Given the description of an element on the screen output the (x, y) to click on. 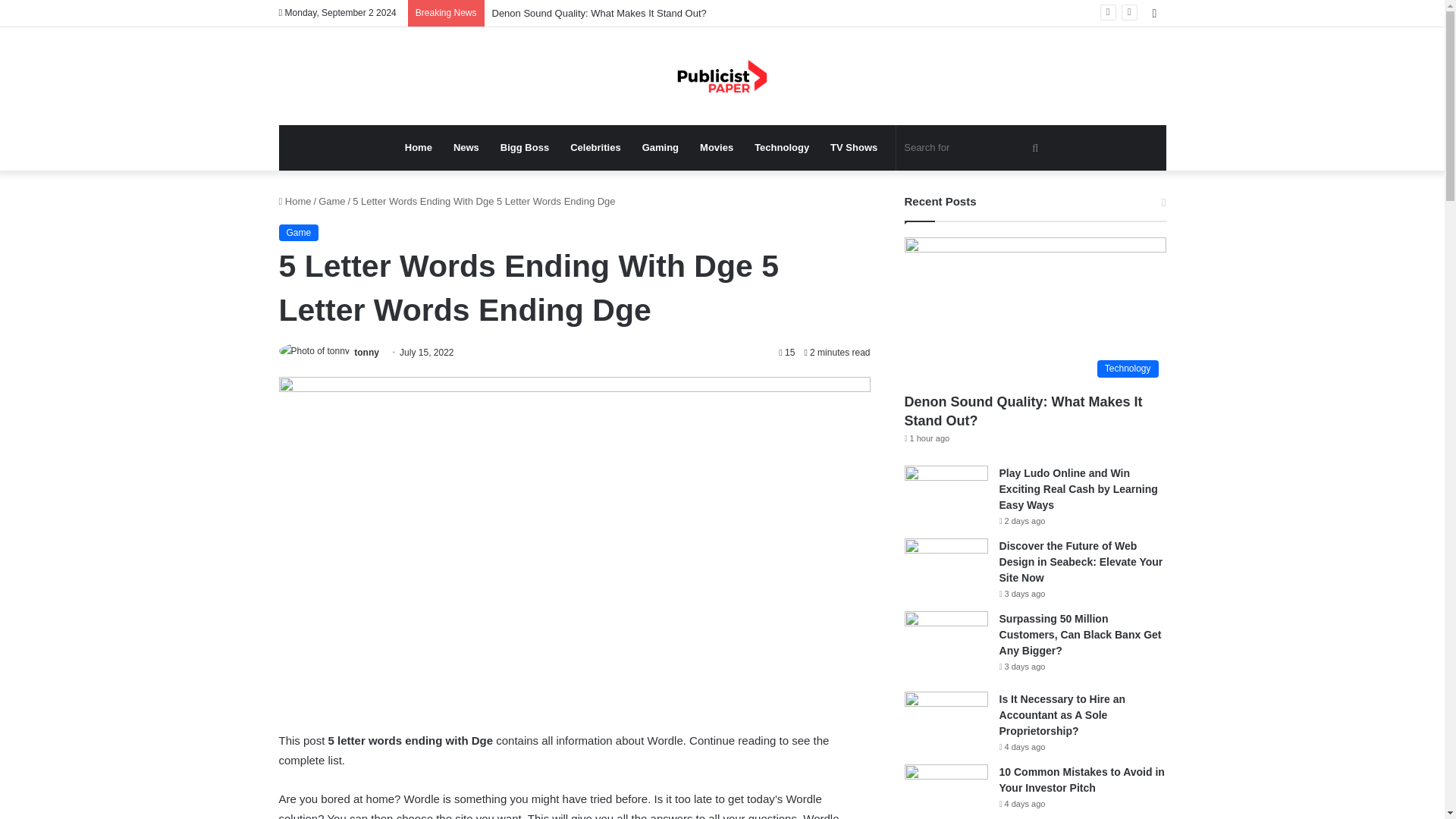
Movies (716, 147)
Denon Sound Quality: What Makes It Stand Out? (599, 12)
Bigg Boss (524, 147)
Celebrities (594, 147)
Home (295, 201)
Search for (972, 147)
Game (298, 232)
Home (418, 147)
Game (331, 201)
tonny (365, 352)
